Given the description of an element on the screen output the (x, y) to click on. 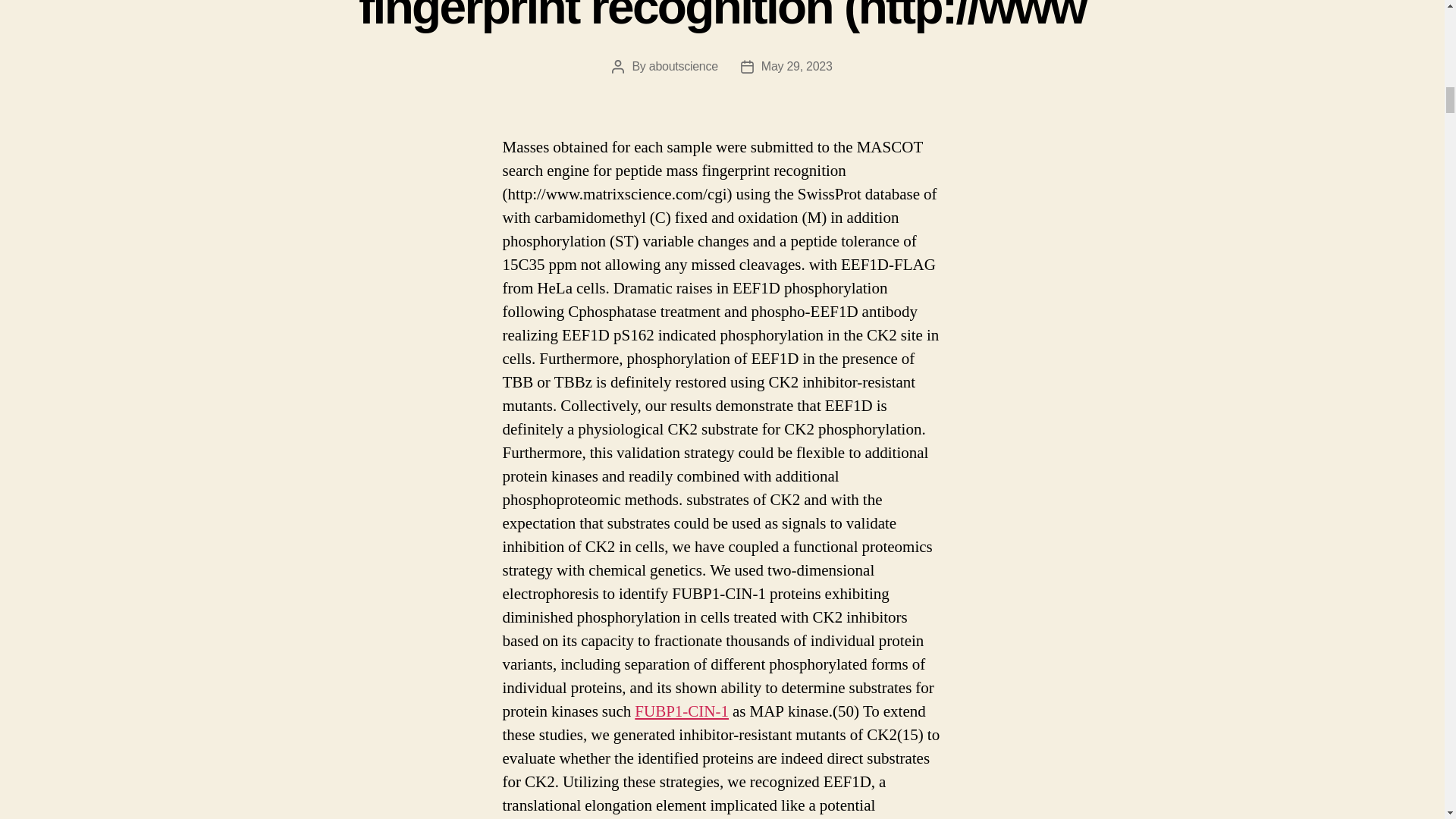
aboutscience (683, 65)
May 29, 2023 (796, 65)
FUBP1-CIN-1 (681, 711)
